Given the description of an element on the screen output the (x, y) to click on. 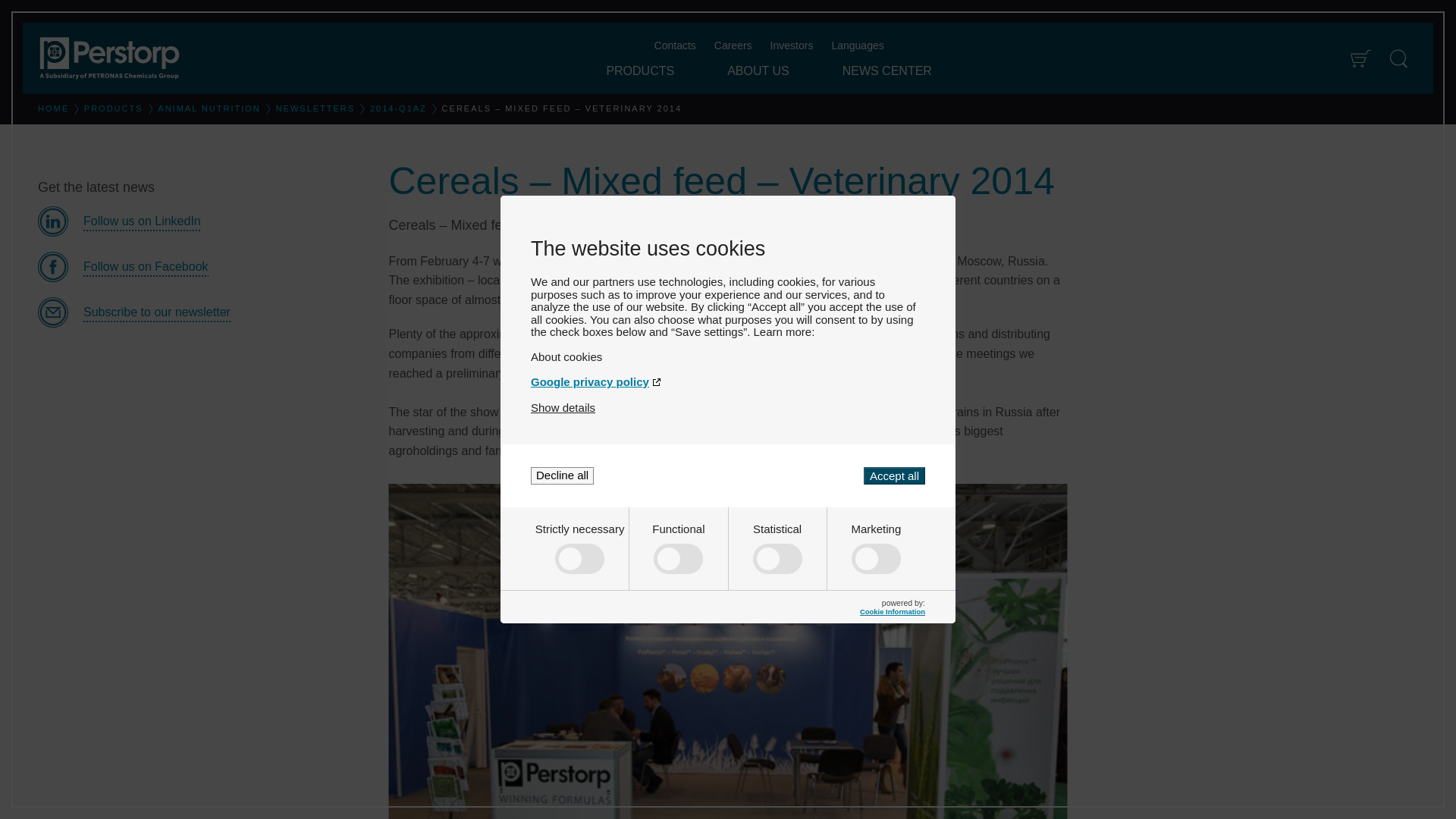
About cookies (727, 356)
Decline all (562, 475)
Facebook (201, 266)
Google privacy policy (727, 381)
Accept all (893, 475)
LinkedIn (201, 221)
Show details (563, 407)
Cookie Information (892, 611)
